Given the description of an element on the screen output the (x, y) to click on. 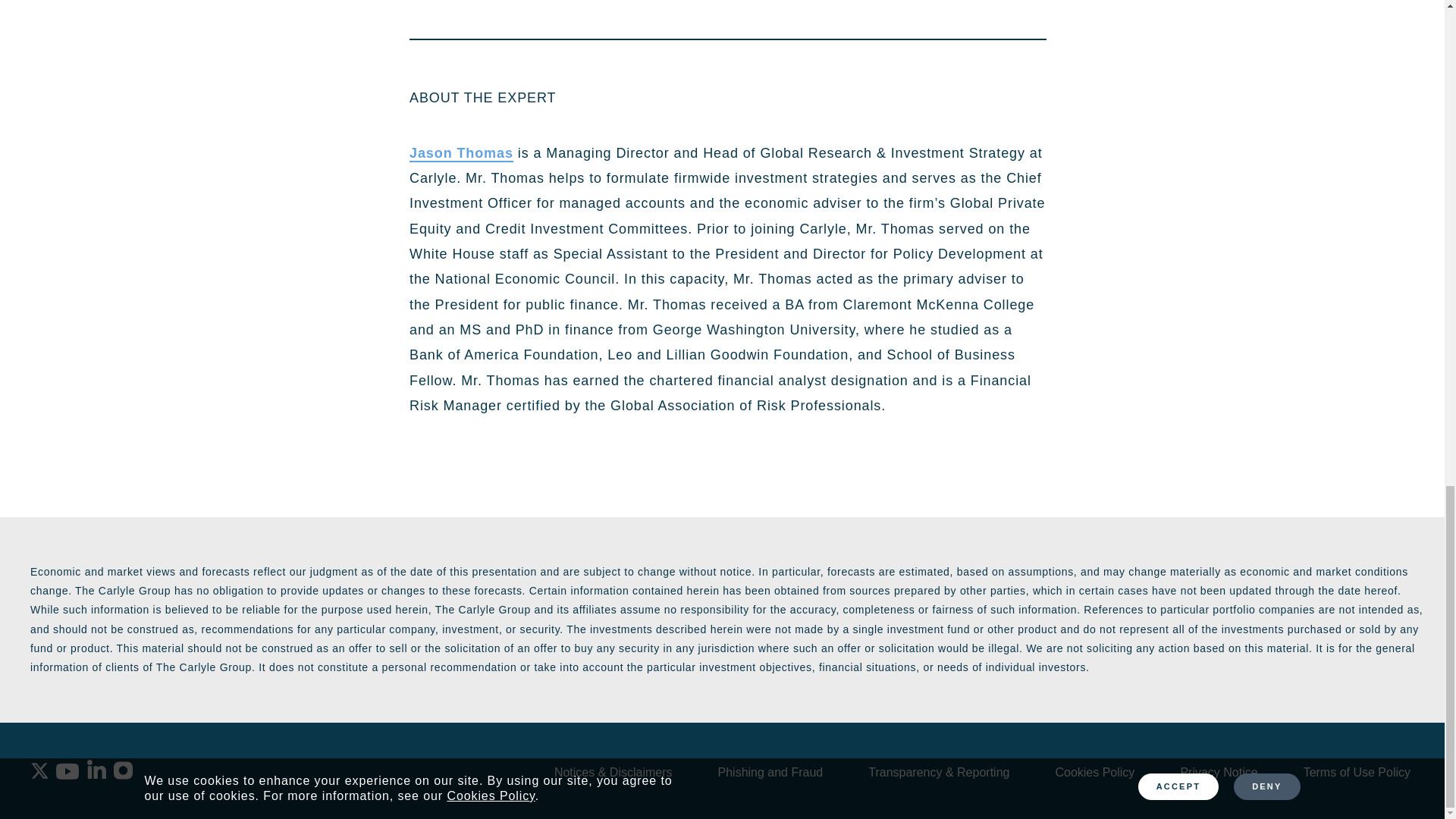
twitter (39, 770)
Jason Thomas (461, 153)
youtube (67, 771)
linkedin (96, 769)
